Given the description of an element on the screen output the (x, y) to click on. 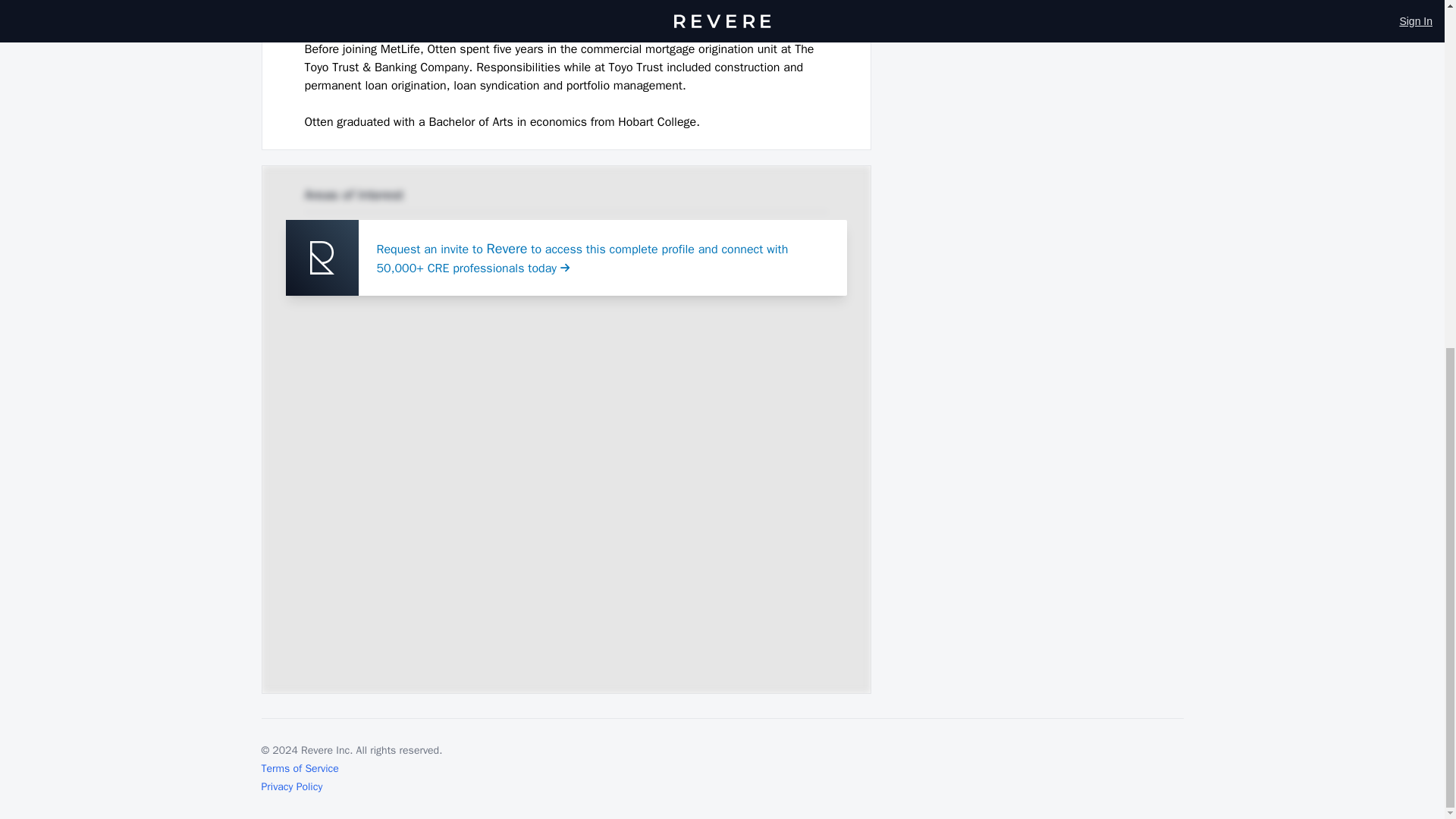
Privacy Policy (290, 785)
Terms of Service (298, 767)
